Given the description of an element on the screen output the (x, y) to click on. 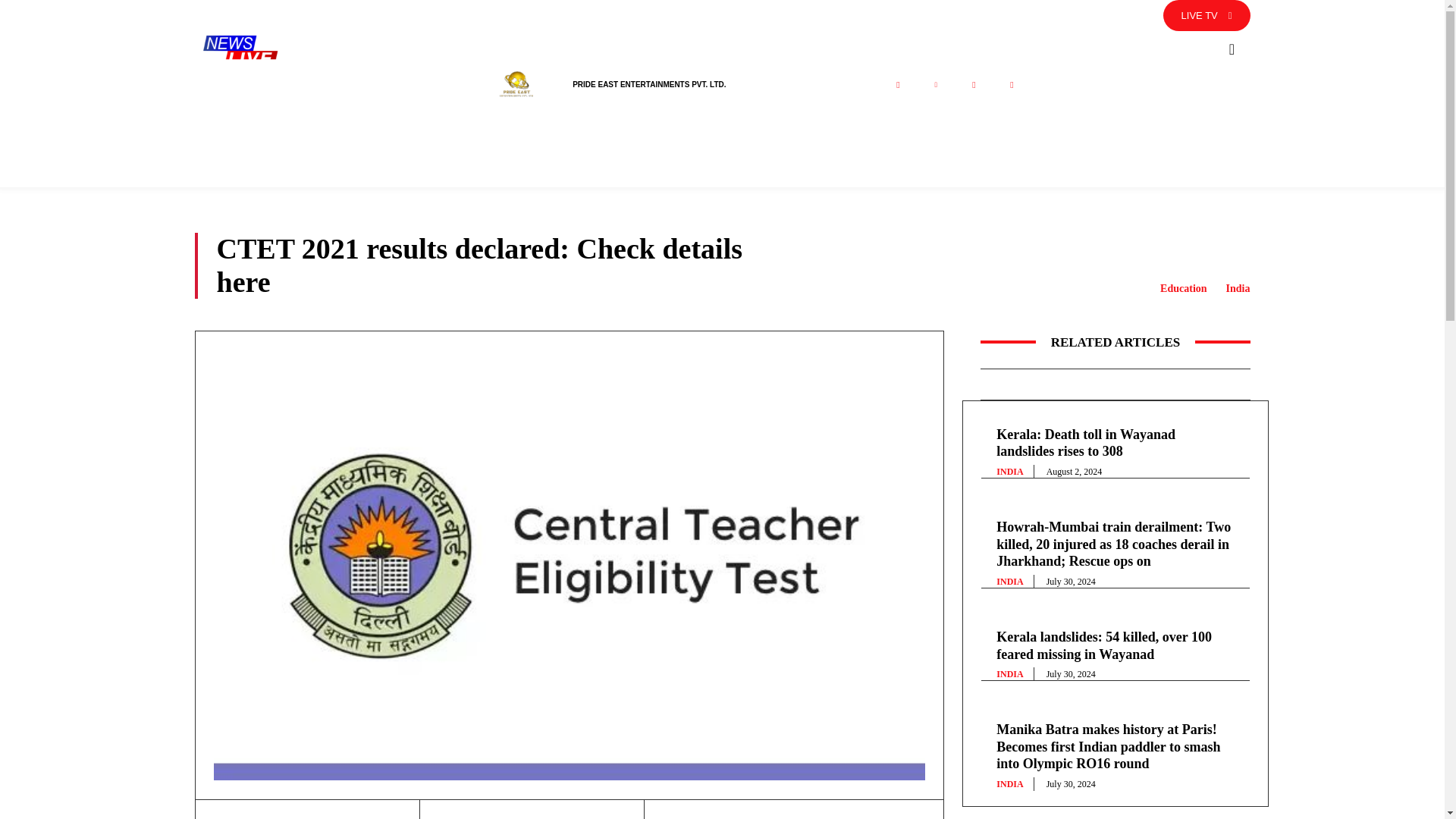
Instagram (973, 84)
Youtube (1010, 84)
PRIDE EAST ENTERTAINMENTS PVT. LTD. (648, 84)
LIVE TV (1206, 15)
Twitter (935, 84)
Facebook (897, 84)
peepl-small (516, 85)
news-live-logo (240, 50)
